Given the description of an element on the screen output the (x, y) to click on. 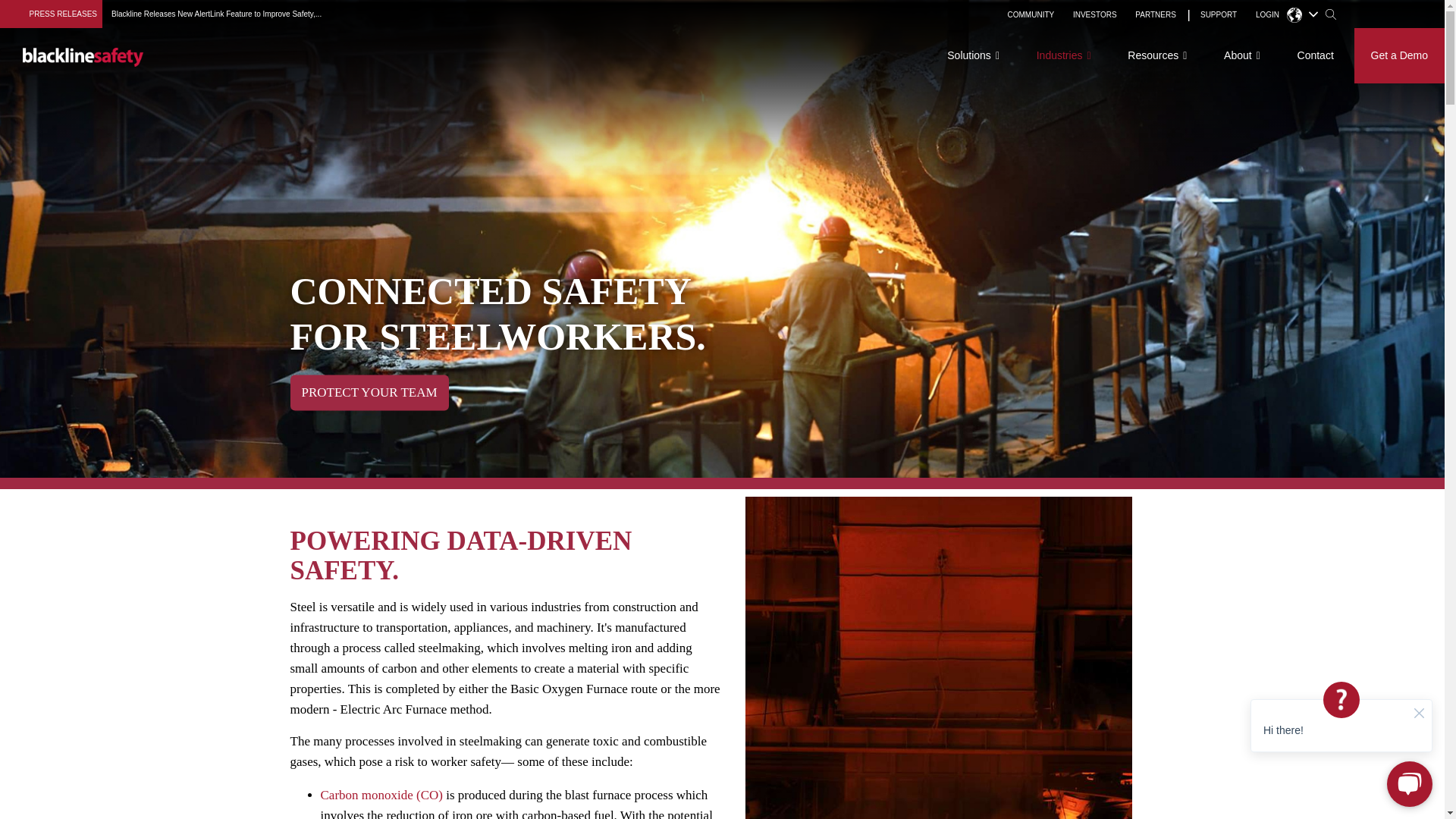
SUPPORT (1218, 15)
LOGIN (1267, 15)
PARTNERS (1154, 15)
Solutions (973, 55)
PRESS RELEASES (63, 13)
INVESTORS (1094, 15)
COMMUNITY (1031, 15)
